Given the description of an element on the screen output the (x, y) to click on. 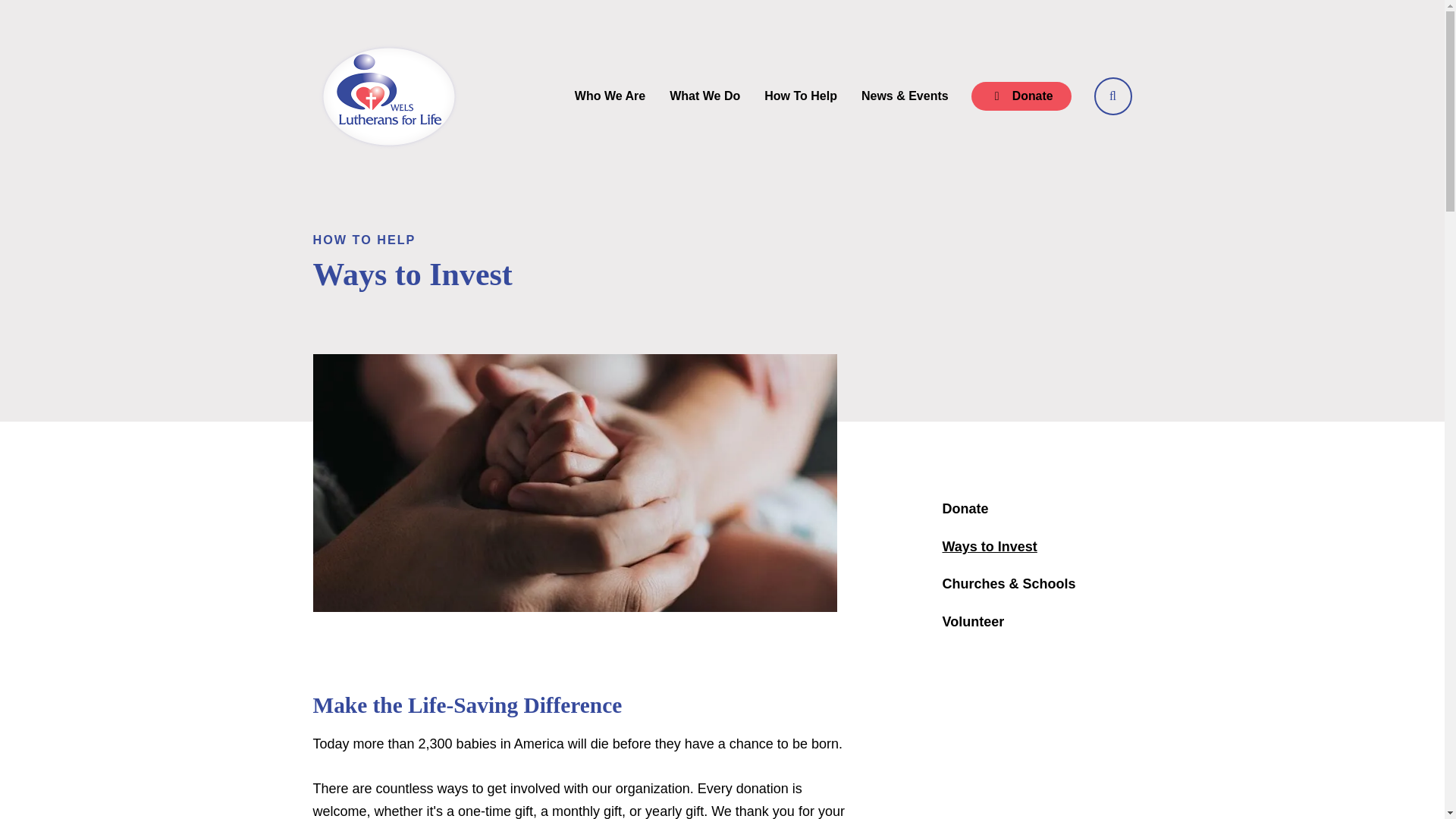
logo (388, 96)
search (1112, 95)
How To Help (800, 96)
What We Do (705, 96)
Who We Are (610, 96)
Donate (1021, 95)
